Given the description of an element on the screen output the (x, y) to click on. 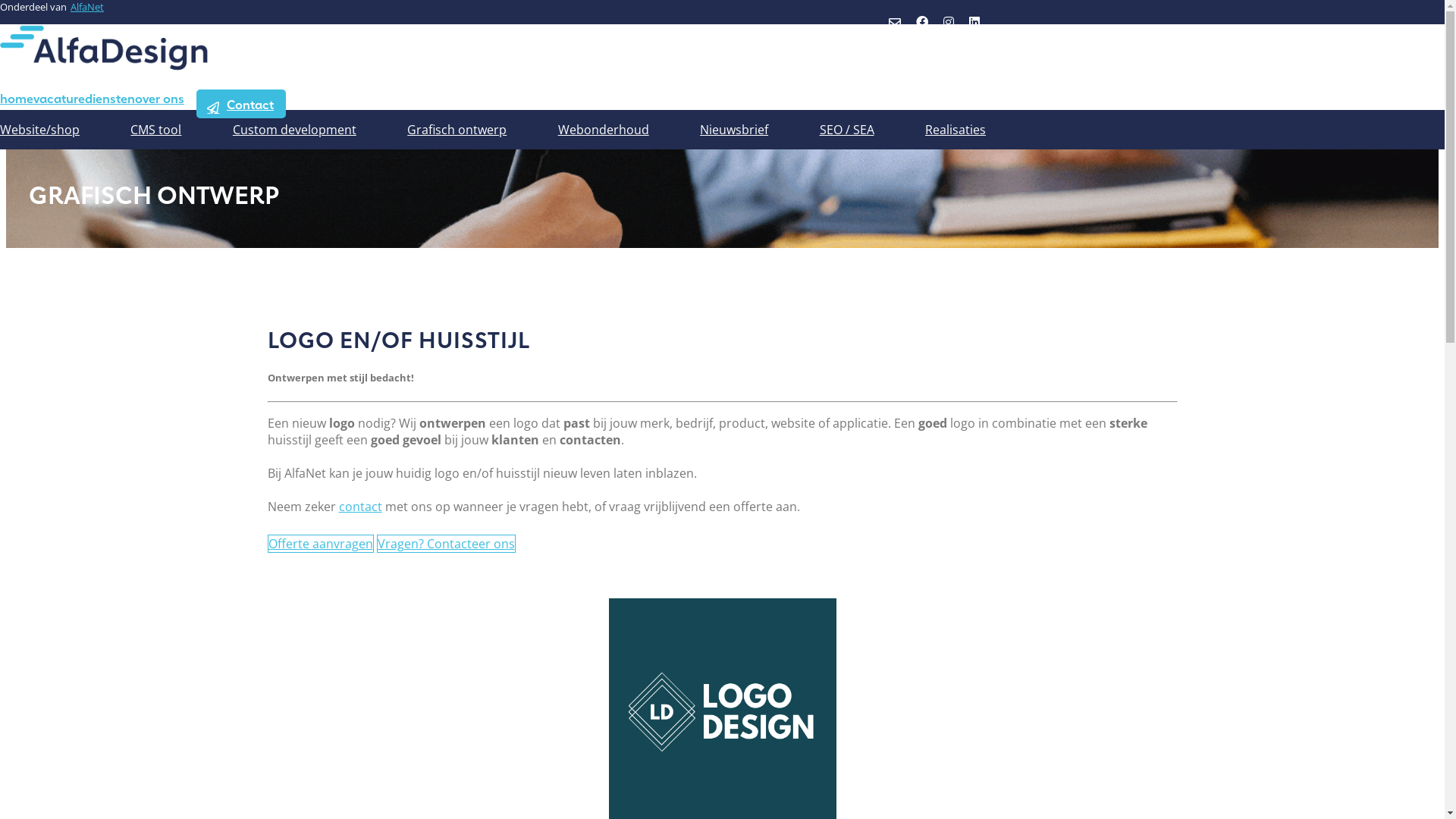
contact Element type: text (359, 506)
Contact Element type: text (240, 103)
Nieuwsbrief Element type: text (733, 129)
Webonderhoud Element type: text (603, 129)
SEO / SEA Element type: text (846, 129)
diensten Element type: text (109, 97)
home Element type: text (16, 97)
CMS tool Element type: text (155, 129)
vacature Element type: text (58, 97)
Custom development Element type: text (294, 129)
Realisaties Element type: text (955, 129)
over ons Element type: text (159, 97)
Website/shop Element type: text (39, 129)
Offerte aanvragen Element type: text (319, 543)
Vragen? Contacteer ons Element type: text (445, 543)
AlfaNet Element type: text (86, 6)
Grafisch ontwerp Element type: text (456, 129)
